Given the description of an element on the screen output the (x, y) to click on. 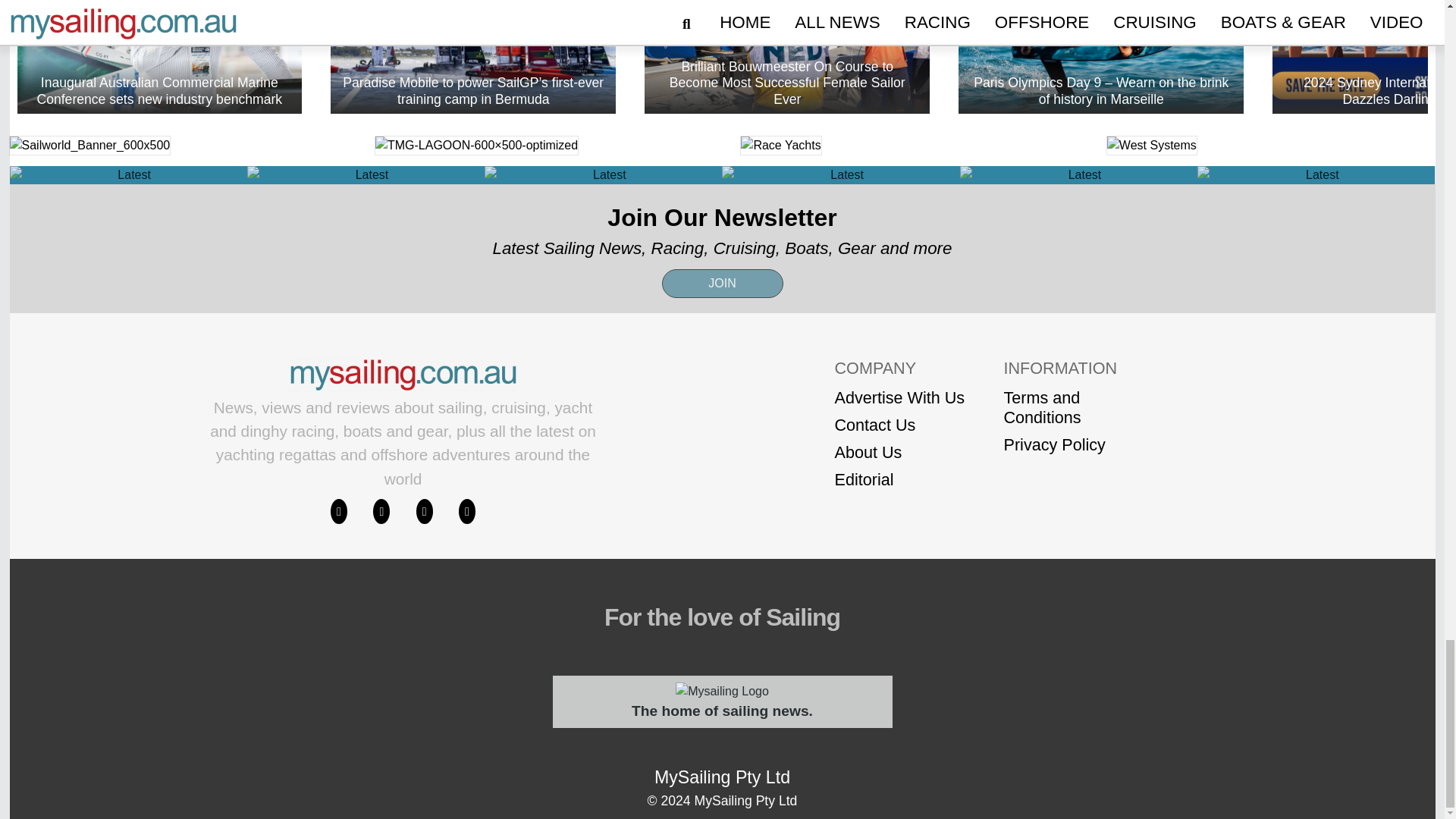
About Us (899, 452)
Contact Us (899, 424)
Advertise With Us (899, 397)
Editorial (899, 479)
